Given the description of an element on the screen output the (x, y) to click on. 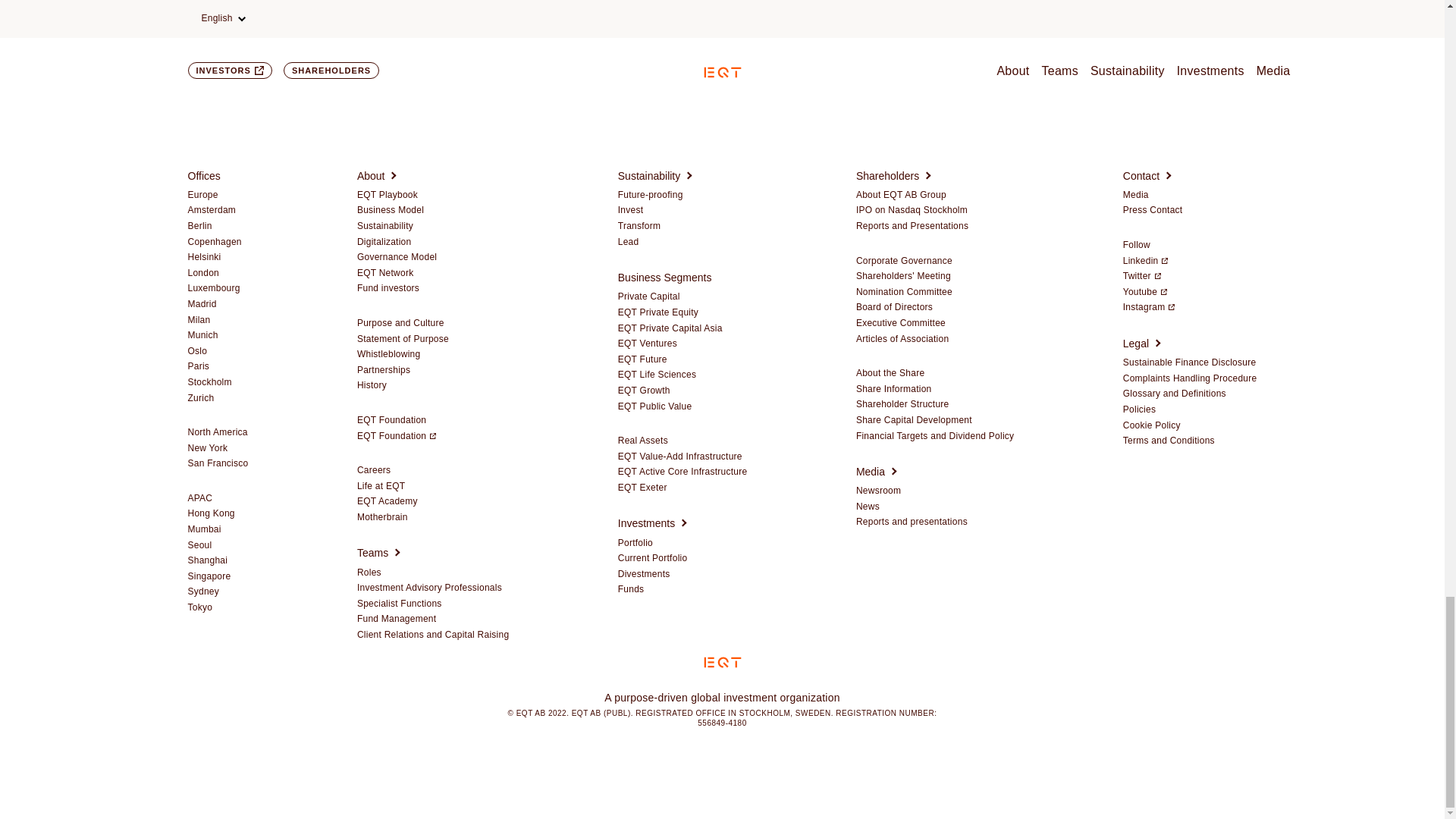
Oslo (197, 351)
New York (207, 449)
Berlin (199, 226)
London (203, 273)
San Francisco (217, 463)
Copenhagen (214, 242)
Stockholm (209, 382)
Zurich (200, 398)
Helsinki (204, 257)
Milan (199, 320)
Sydney (203, 592)
Munich (202, 336)
Paris (198, 367)
EQT logo (722, 662)
Amsterdam (211, 210)
